Given the description of an element on the screen output the (x, y) to click on. 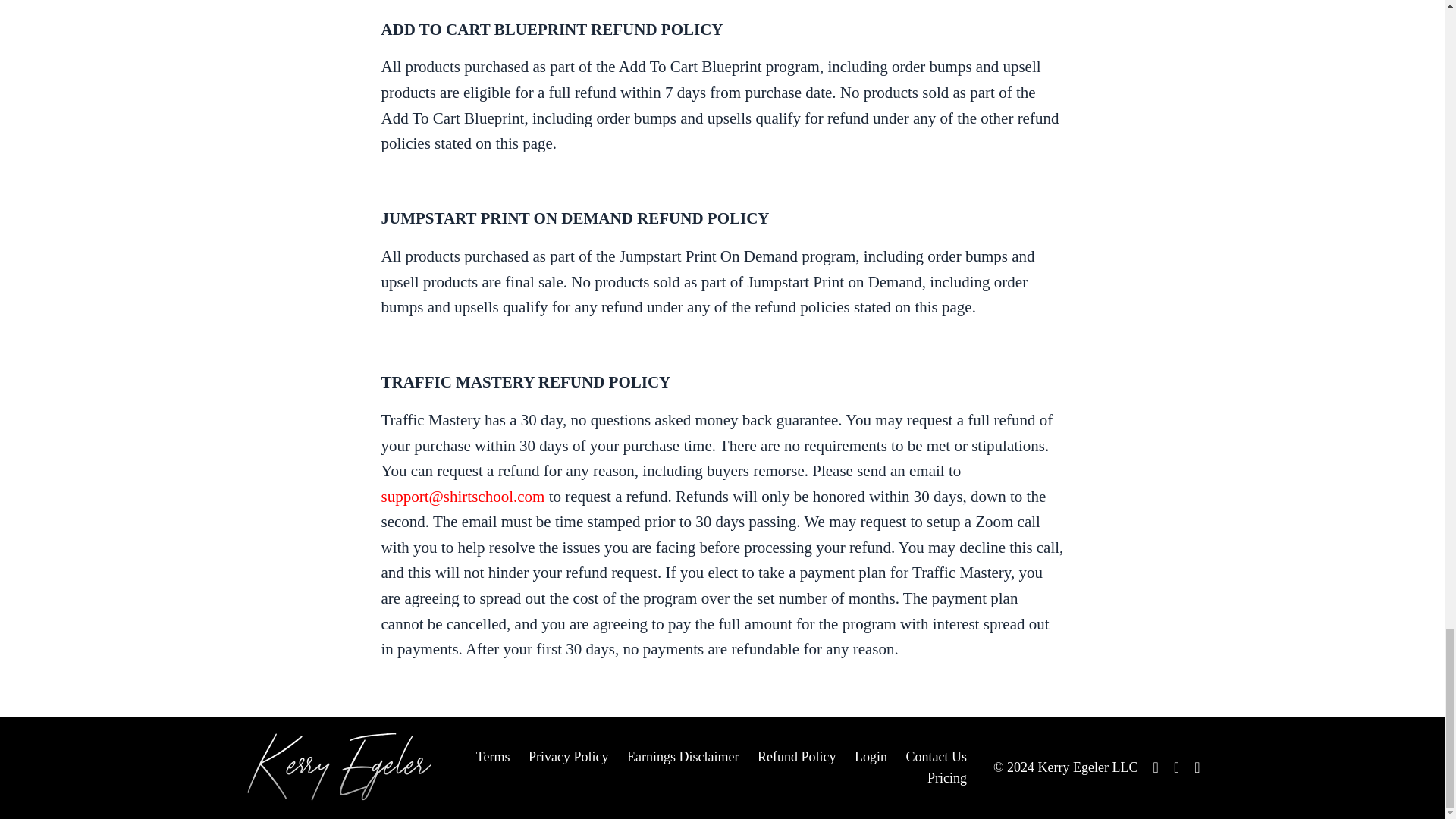
Contact Us (935, 756)
Pricing (946, 777)
Login (870, 756)
Privacy Policy (568, 756)
Terms (493, 756)
Earnings Disclaimer (682, 756)
Refund Policy (796, 756)
